Given the description of an element on the screen output the (x, y) to click on. 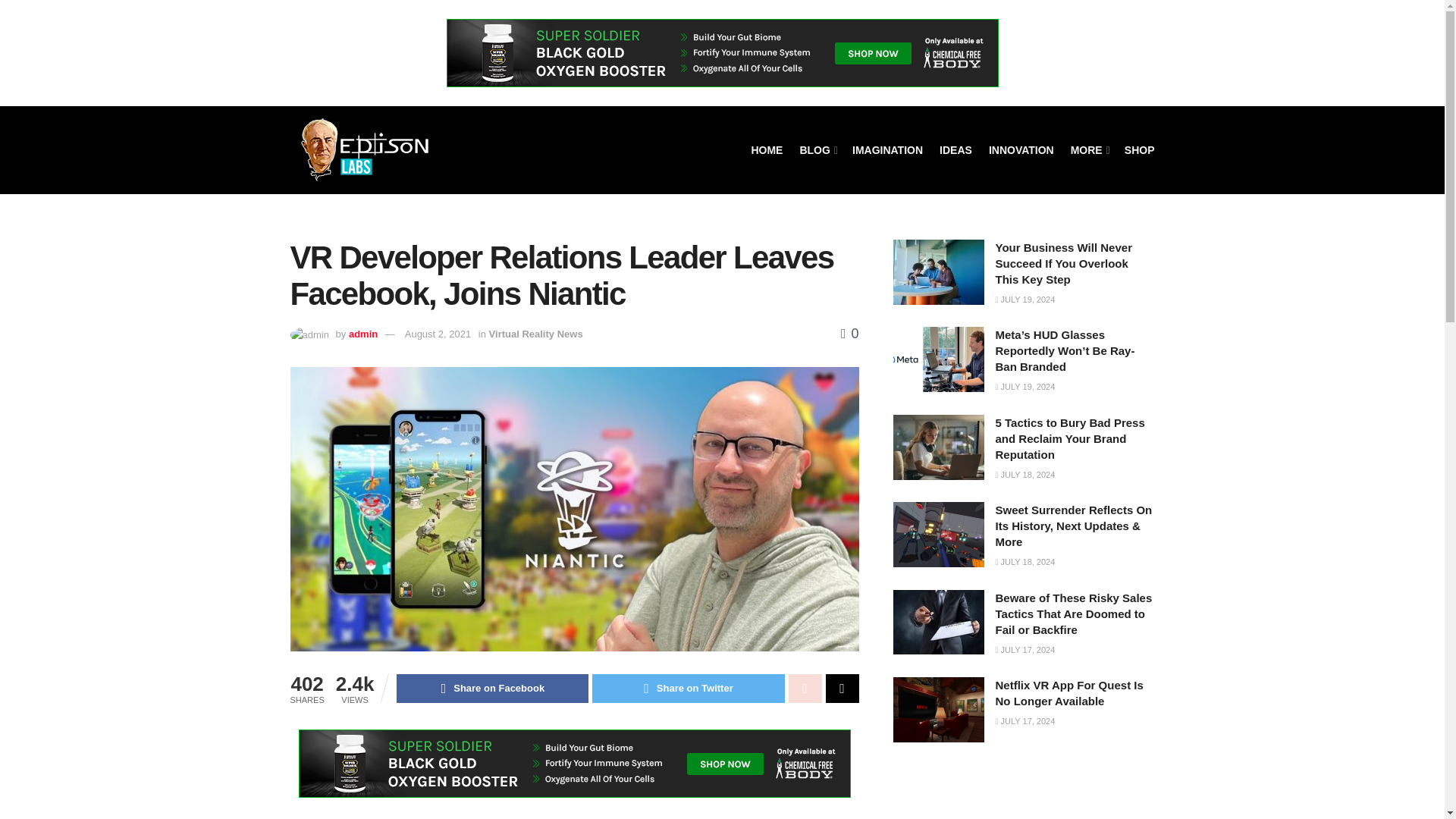
admin (363, 333)
0 (850, 333)
Share on Twitter (688, 688)
Share on Facebook (492, 688)
Virtual Reality News (536, 333)
August 2, 2021 (437, 333)
